Given the description of an element on the screen output the (x, y) to click on. 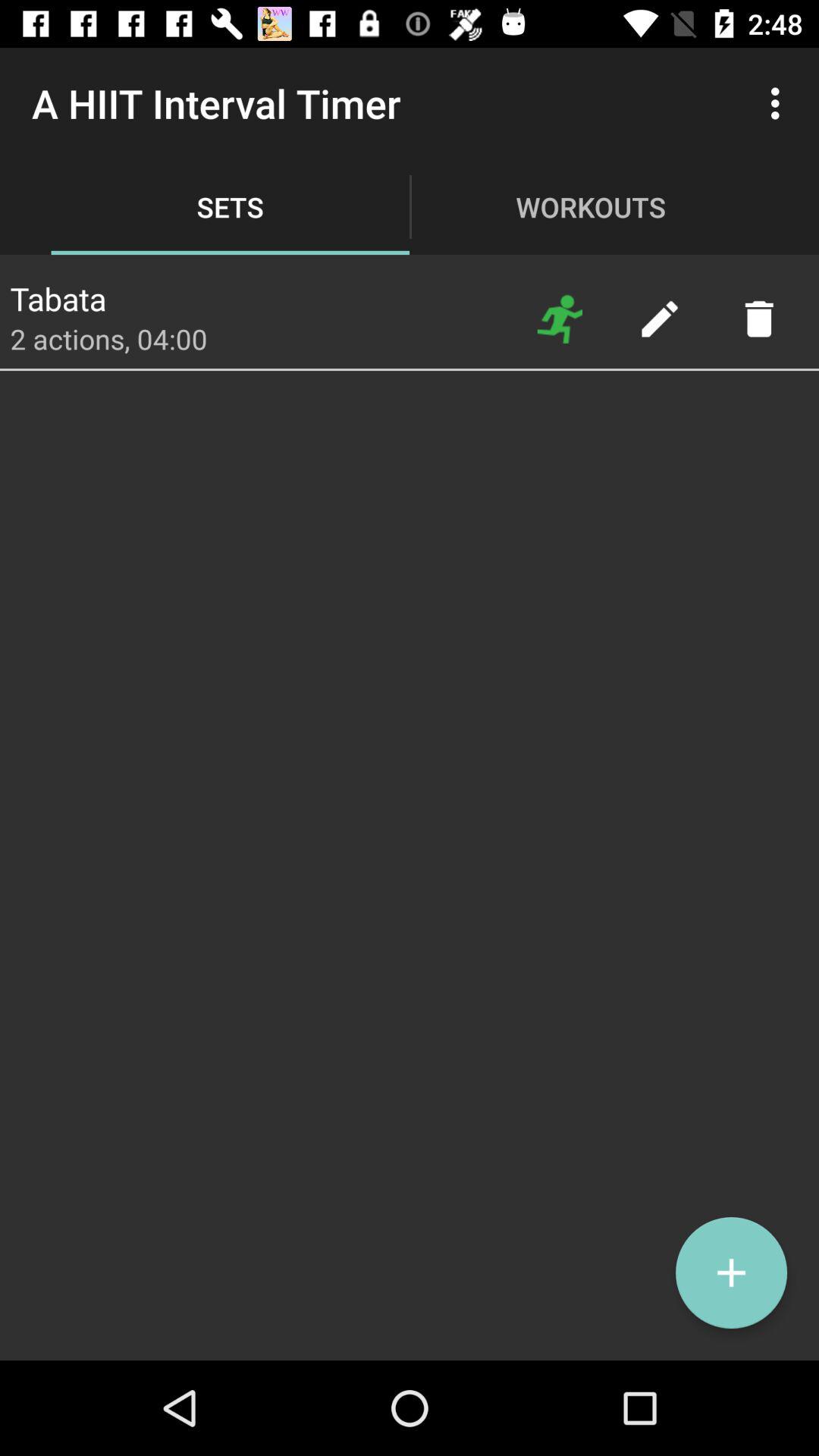
launch the item to the right of the workouts icon (779, 103)
